Given the description of an element on the screen output the (x, y) to click on. 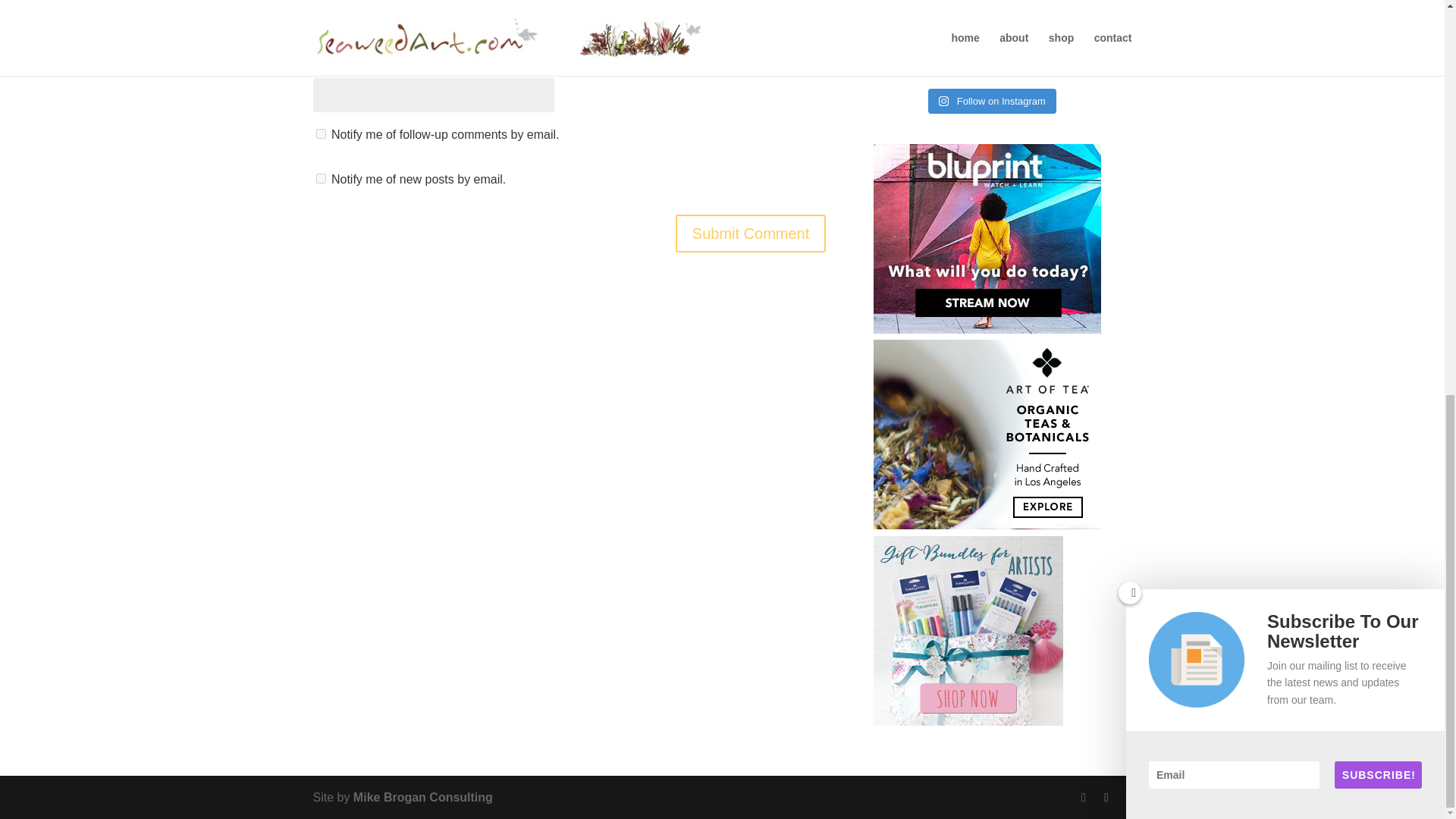
Submit Comment (751, 233)
subscribe (319, 178)
Follow on Instagram (992, 101)
Mike Brogan Consulting (423, 797)
subscribe (319, 133)
Submit Comment (751, 233)
